Given the description of an element on the screen output the (x, y) to click on. 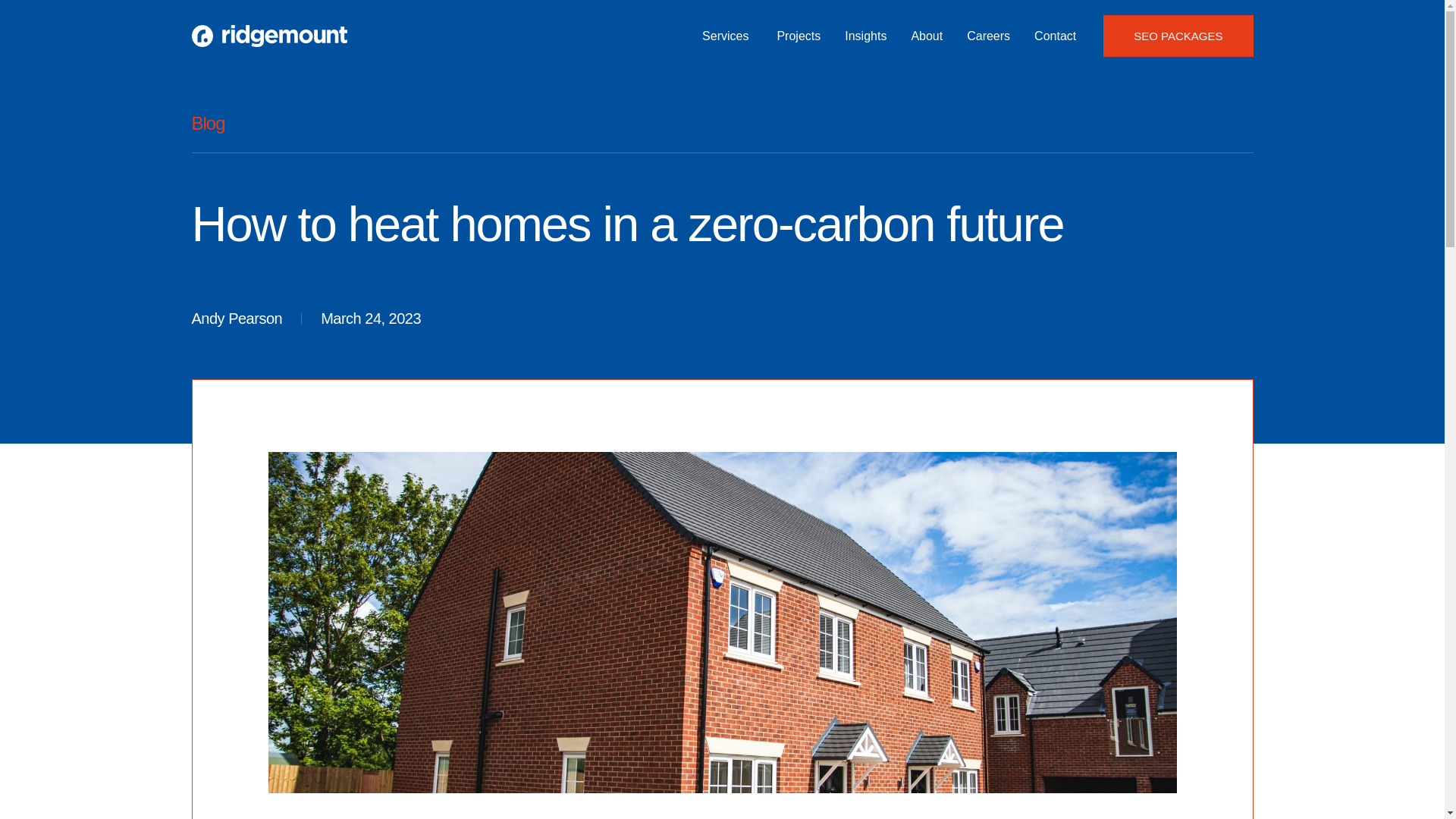
Contact (1054, 36)
SEO PACKAGES (1177, 35)
Careers (988, 36)
Insights (865, 36)
About (926, 36)
Projects (798, 36)
